Given the description of an element on the screen output the (x, y) to click on. 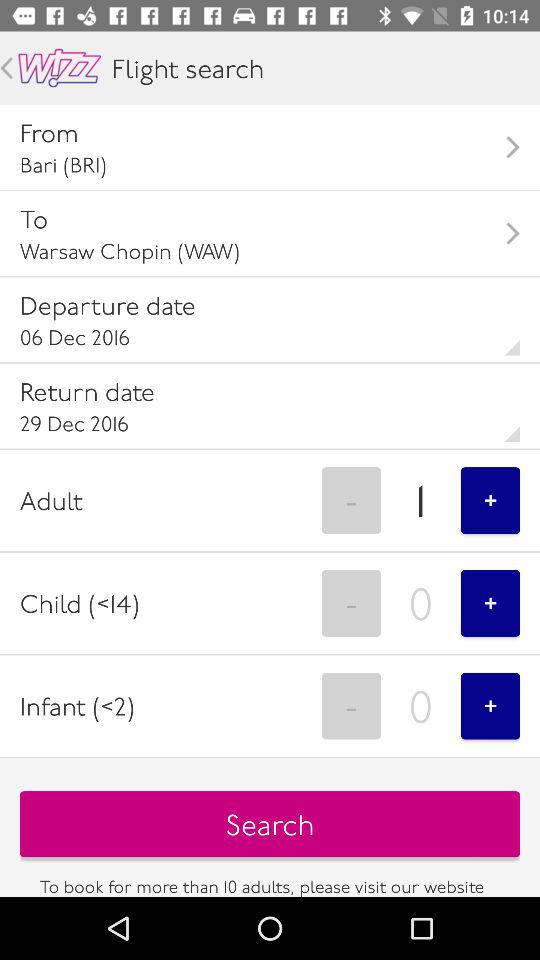
click the item to the right of adult icon (351, 500)
